Given the description of an element on the screen output the (x, y) to click on. 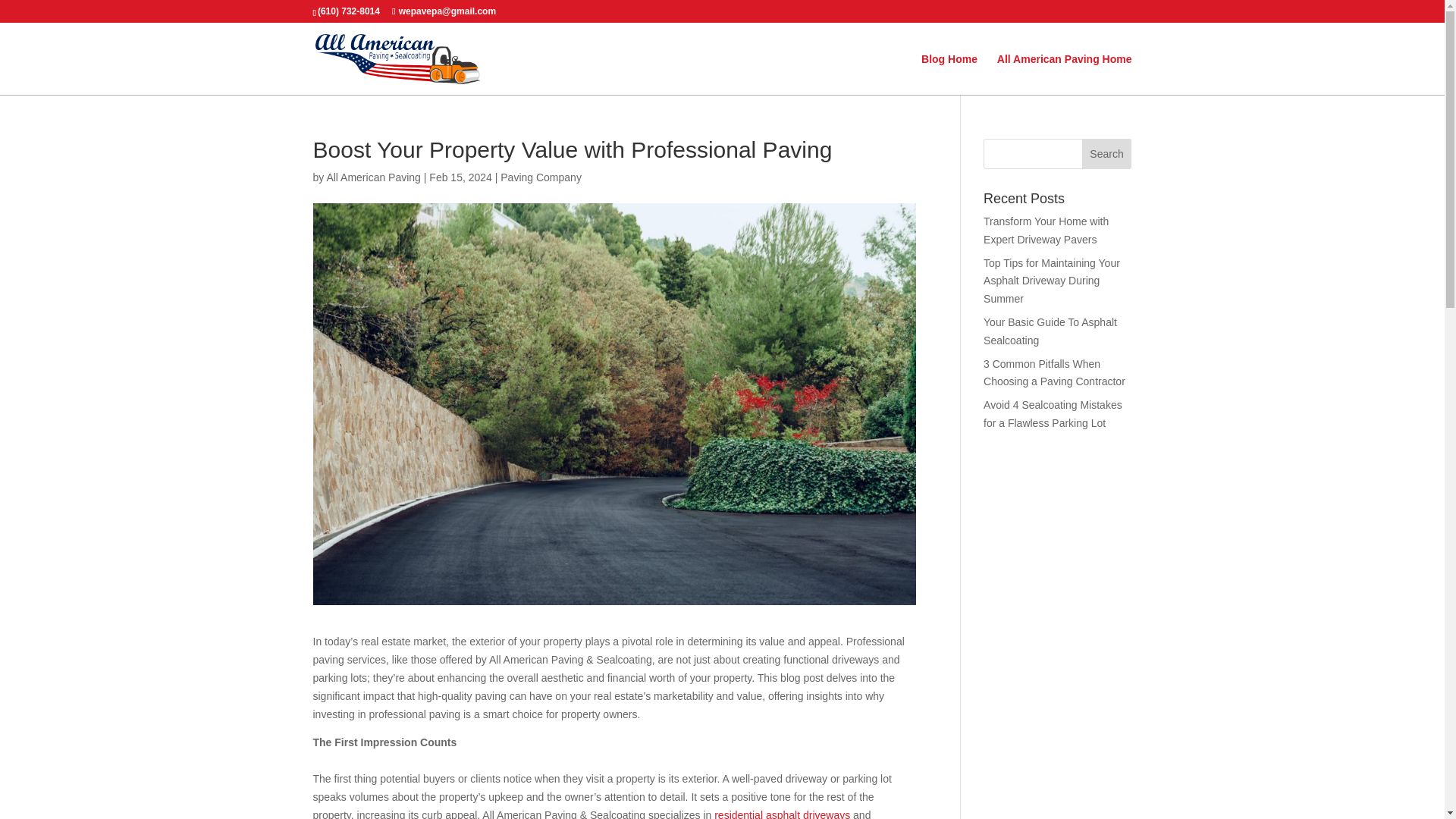
Transform Your Home with Expert Driveway Pavers (1046, 230)
residential asphalt driveways (782, 814)
All American Paving (373, 177)
All American Paving Home (1064, 74)
Blog Home (948, 74)
Your Basic Guide To Asphalt Sealcoating (1050, 331)
Avoid 4 Sealcoating Mistakes for a Flawless Parking Lot (1053, 413)
Paving Company (540, 177)
3 Common Pitfalls When Choosing a Paving Contractor (1054, 372)
Search (1106, 153)
Top Tips for Maintaining Your Asphalt Driveway During Summer (1051, 281)
Search (1106, 153)
Posts by All American Paving (373, 177)
